Given the description of an element on the screen output the (x, y) to click on. 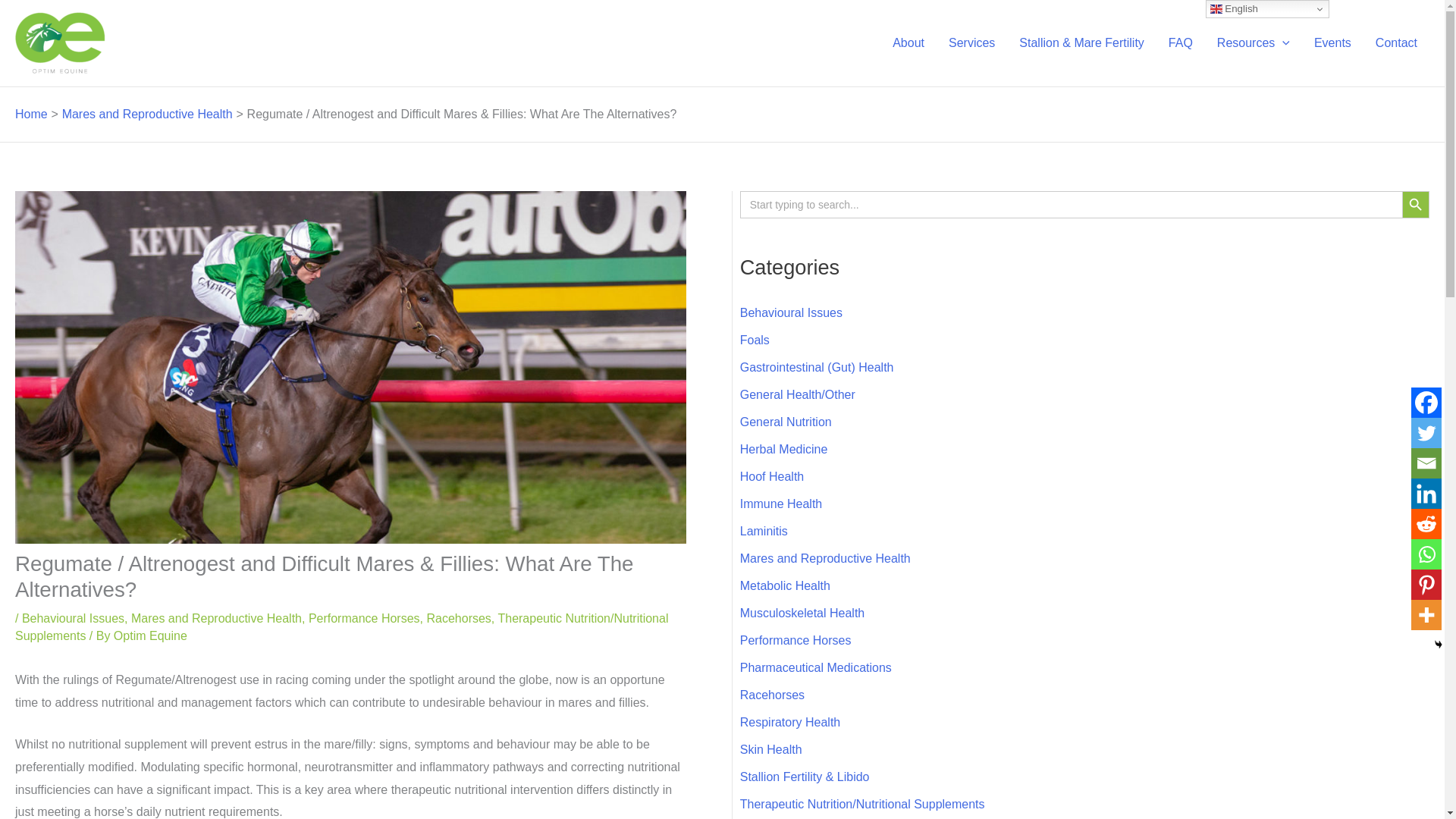
Services (971, 42)
Racehorses (458, 617)
Performance Horses (364, 617)
Mares and Reproductive Health (216, 617)
Contact (1395, 42)
Optim Equine (150, 635)
Behavioural Issues (72, 617)
Events (1331, 42)
Resources (1253, 42)
View all posts by Optim Equine (150, 635)
Home (31, 113)
About (908, 42)
Mares and Reproductive Health (147, 113)
Facebook (1425, 402)
FAQ (1180, 42)
